Given the description of an element on the screen output the (x, y) to click on. 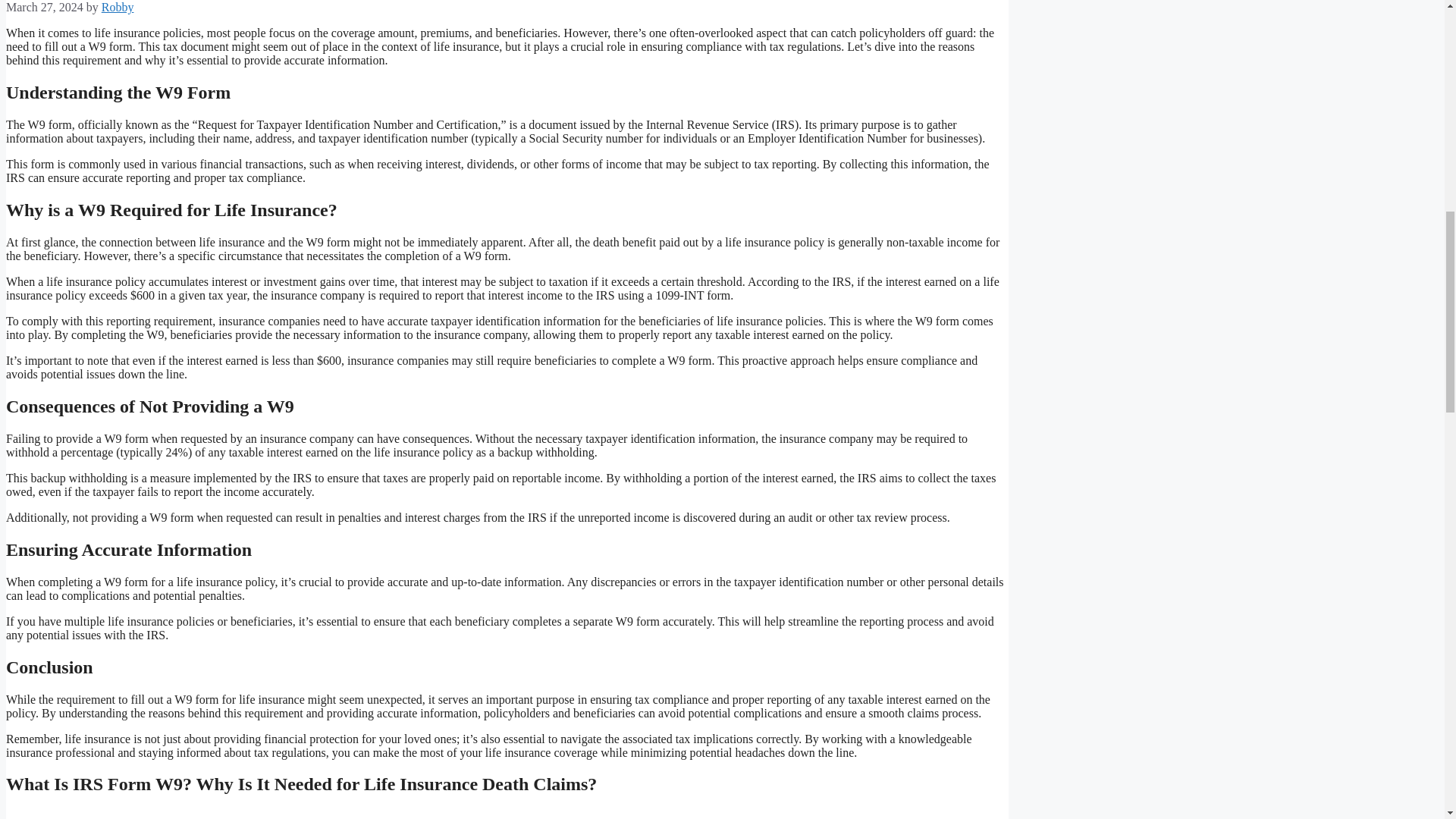
Robby (117, 6)
View all posts by Robby (117, 6)
